Given the description of an element on the screen output the (x, y) to click on. 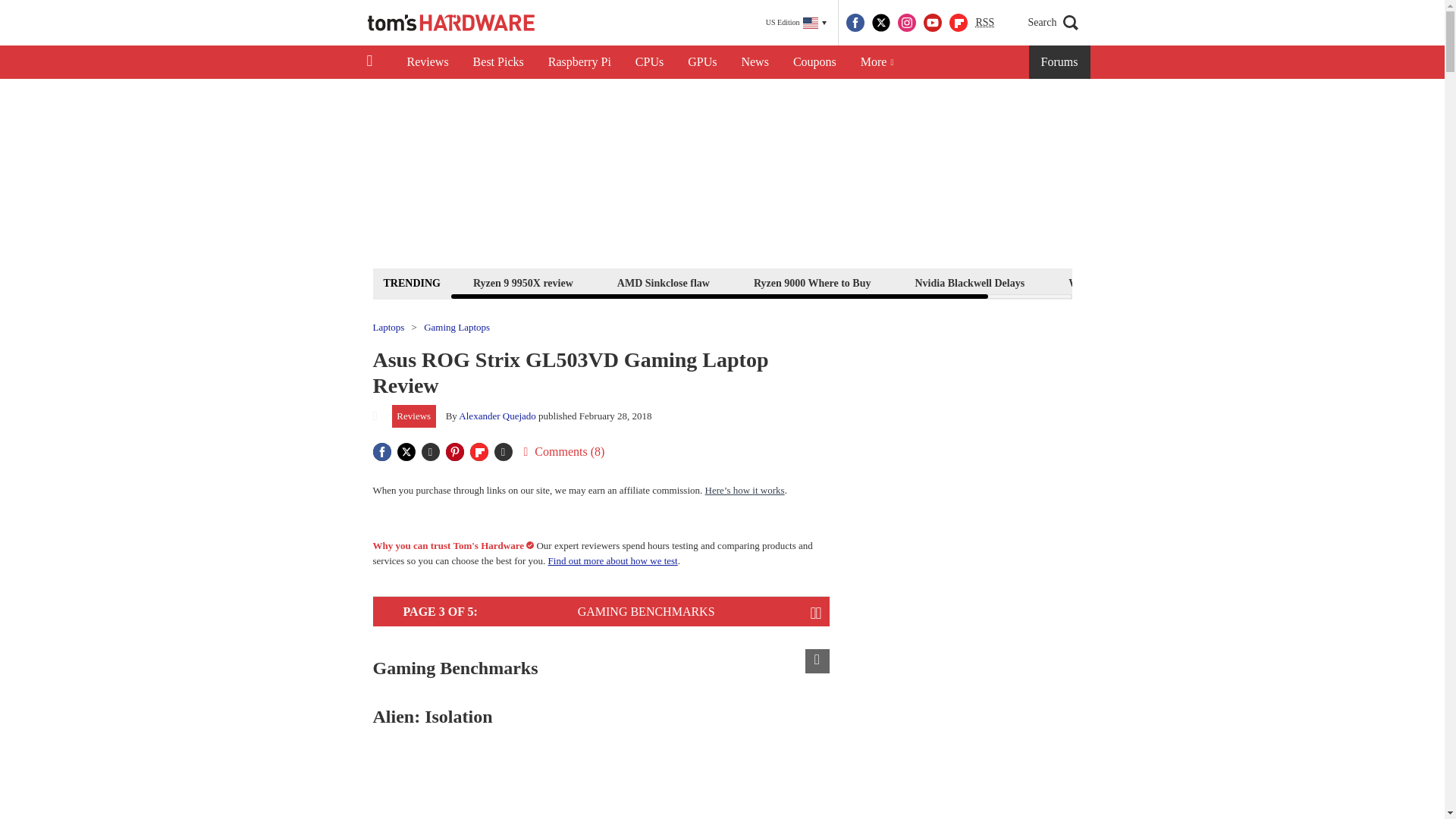
Coupons (814, 61)
Raspberry Pi (579, 61)
US Edition (796, 22)
Best Picks (498, 61)
RSS (984, 22)
Ryzen 9 9950X review (522, 282)
CPUs (649, 61)
News (754, 61)
Really Simple Syndication (984, 21)
Reviews (427, 61)
